Given the description of an element on the screen output the (x, y) to click on. 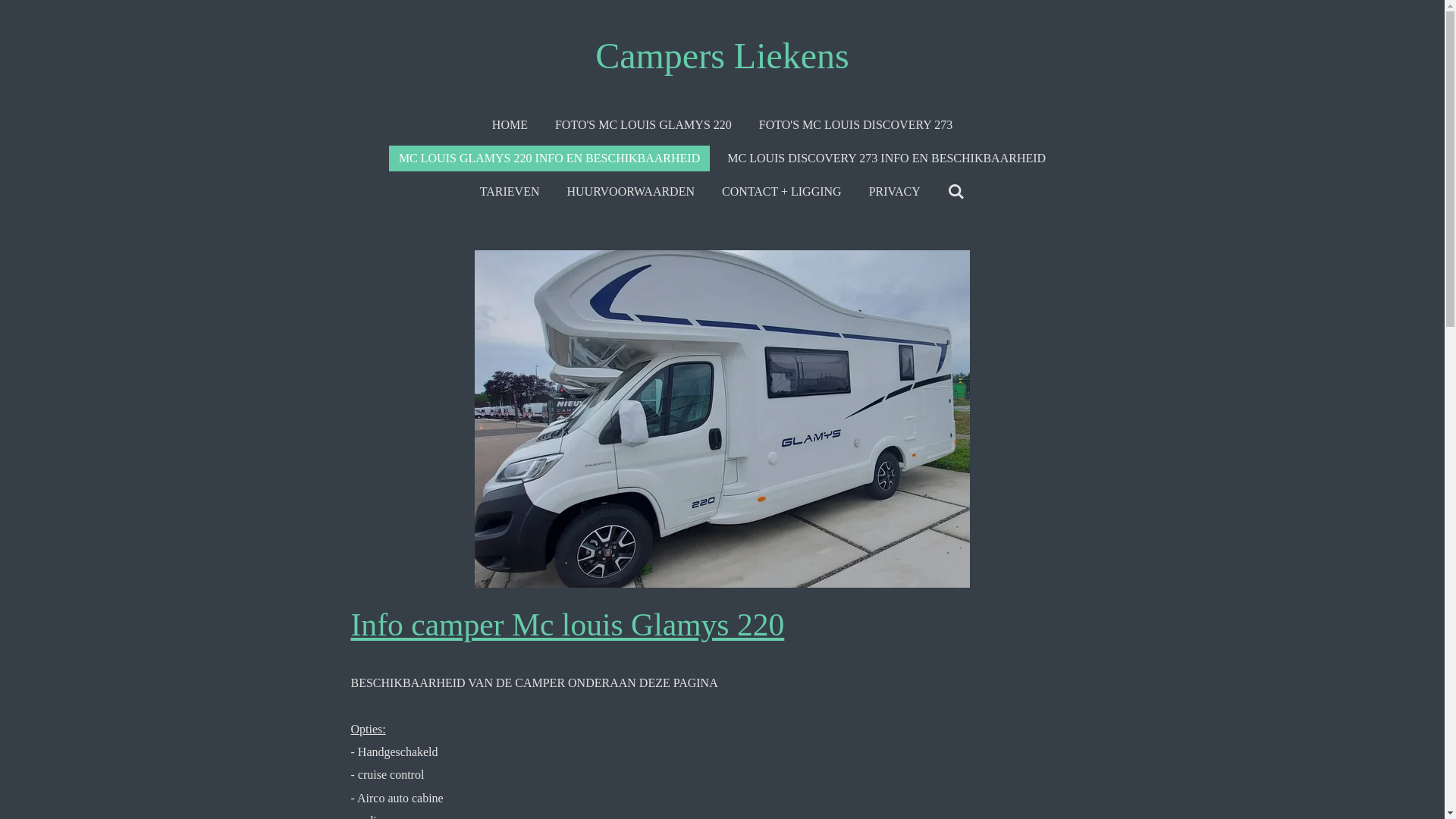
TARIEVEN Element type: text (509, 191)
HOME Element type: text (509, 125)
FOTO'S MC LOUIS GLAMYS 220 Element type: text (643, 125)
CONTACT + LIGGING Element type: text (781, 191)
HUURVOORWAARDEN Element type: text (630, 191)
MC LOUIS GLAMYS 220 INFO EN BESCHIKBAARHEID Element type: text (549, 158)
Campers Liekens Element type: text (722, 55)
FOTO'S MC LOUIS DISCOVERY 273 Element type: text (855, 125)
PRIVACY Element type: text (894, 191)
Zoeken Element type: hover (956, 191)
MC LOUIS DISCOVERY 273 INFO EN BESCHIKBAARHEID Element type: text (886, 158)
